Given the description of an element on the screen output the (x, y) to click on. 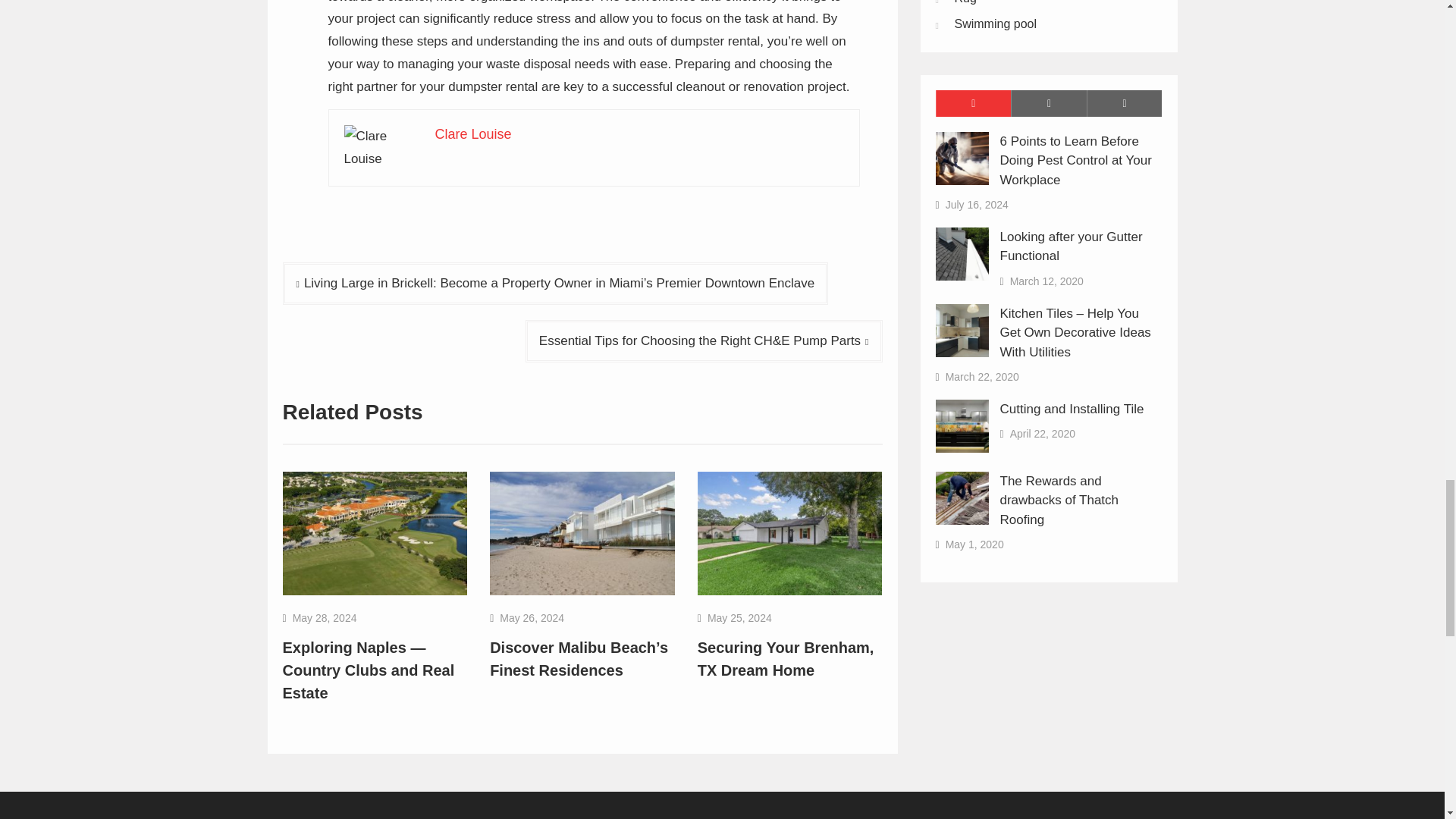
Securing Your Brenham, TX Dream Home (786, 658)
Clare Louise (473, 133)
